Given the description of an element on the screen output the (x, y) to click on. 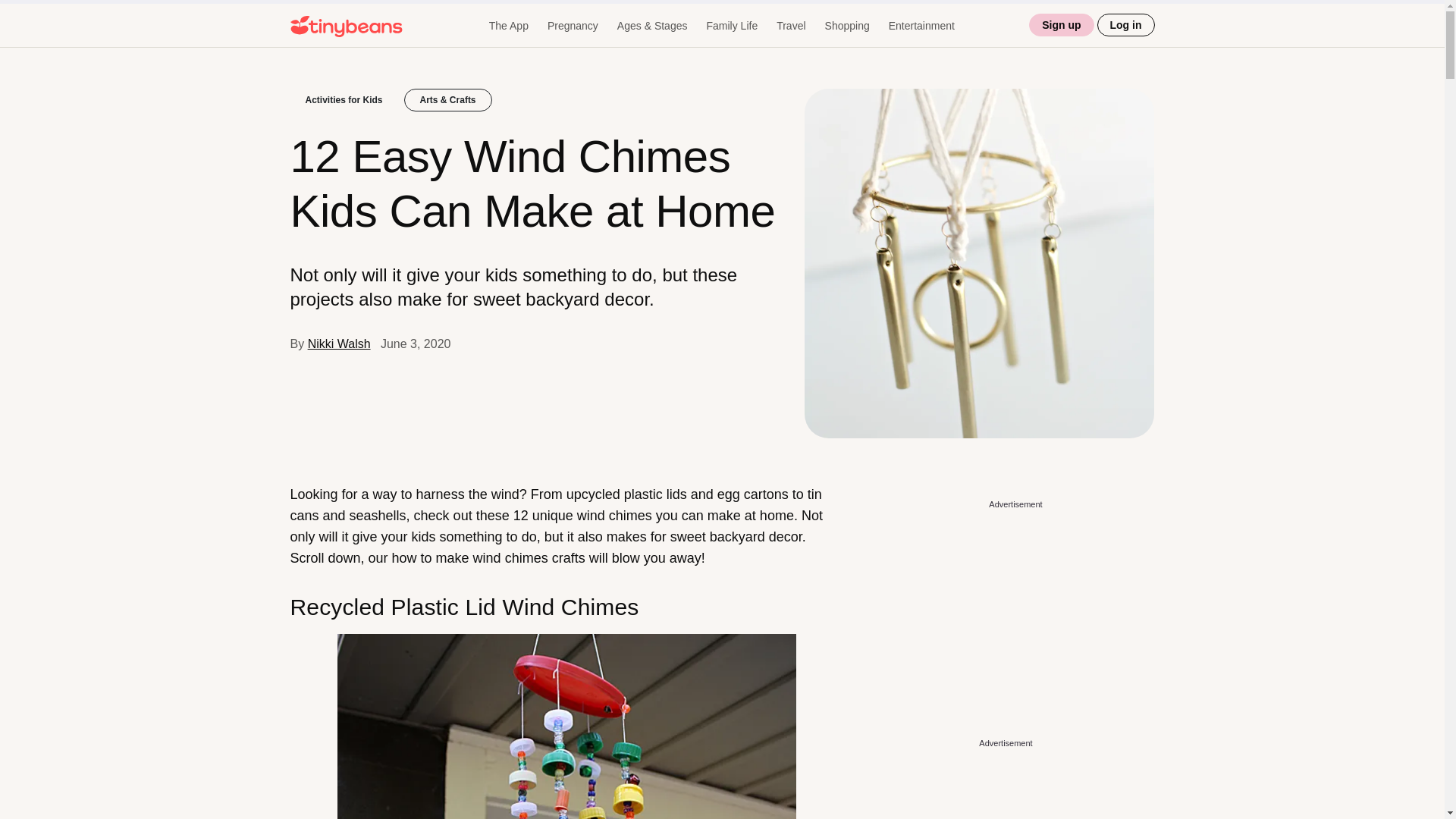
Family Life (731, 25)
The App (508, 25)
Posts by Nikki Walsh (339, 343)
Pregnancy (572, 25)
